Given the description of an element on the screen output the (x, y) to click on. 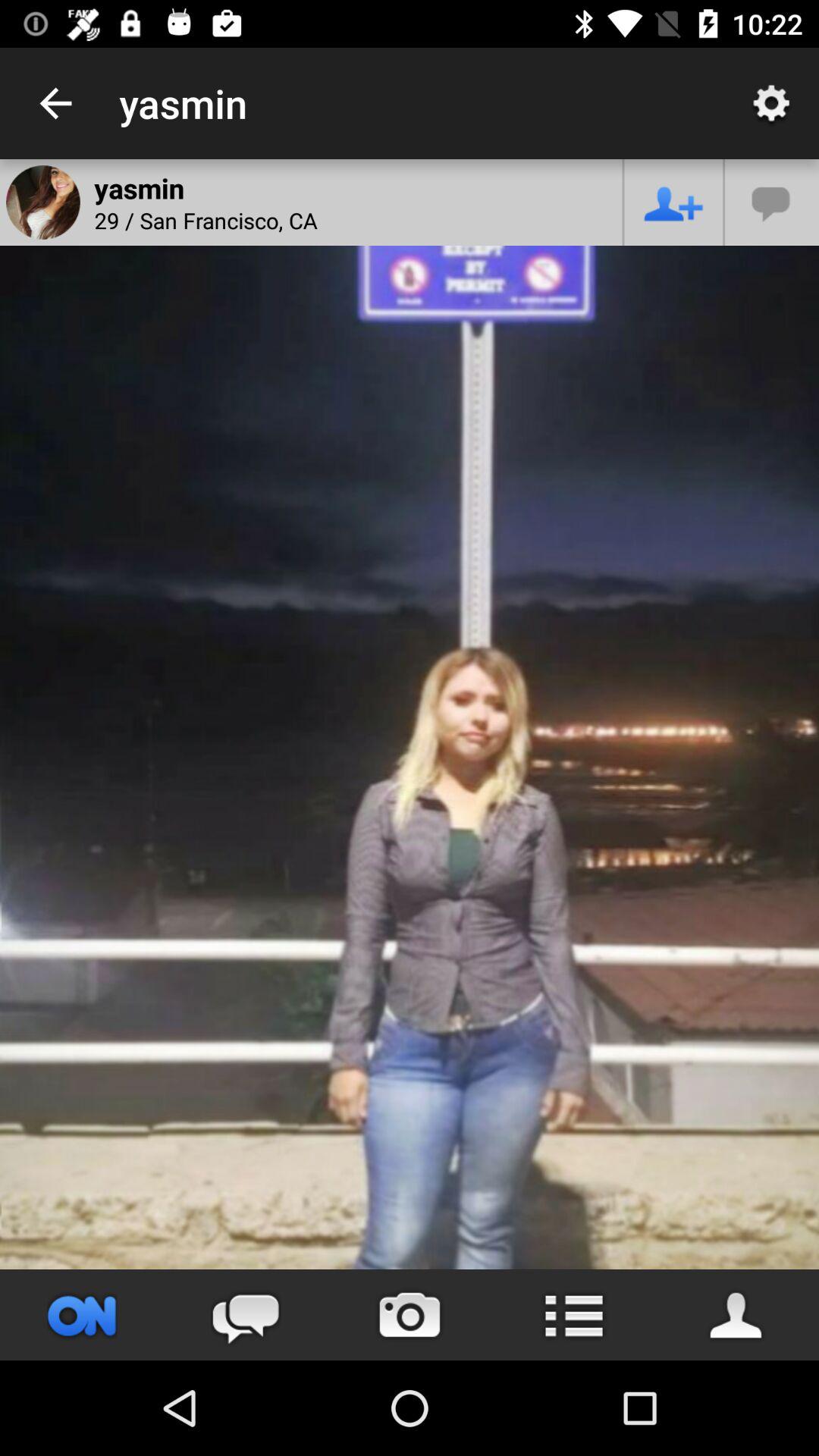
open messages (772, 202)
